Given the description of an element on the screen output the (x, y) to click on. 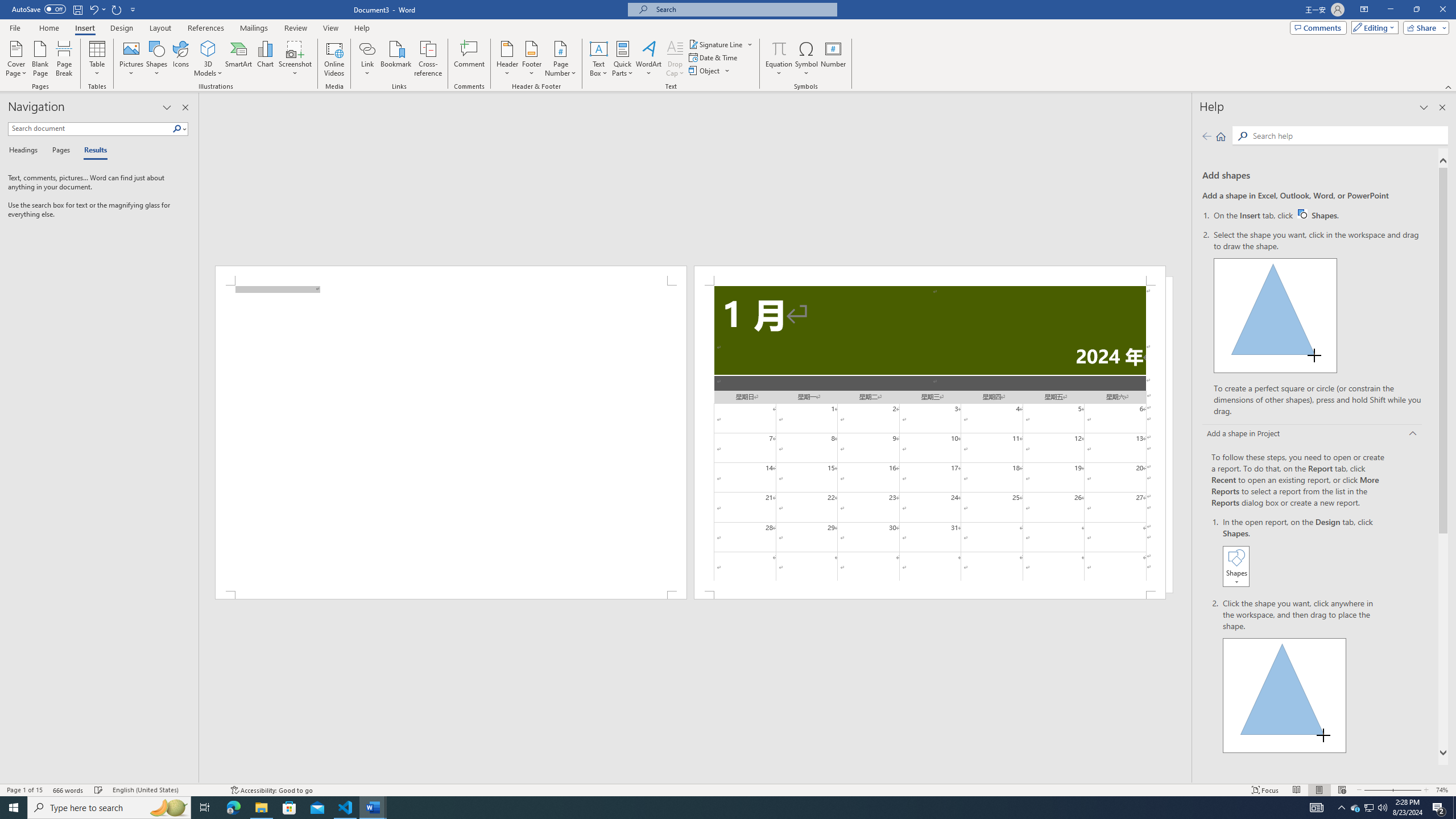
Shapes (156, 58)
Undo New Page (92, 9)
SmartArt... (238, 58)
